Given the description of an element on the screen output the (x, y) to click on. 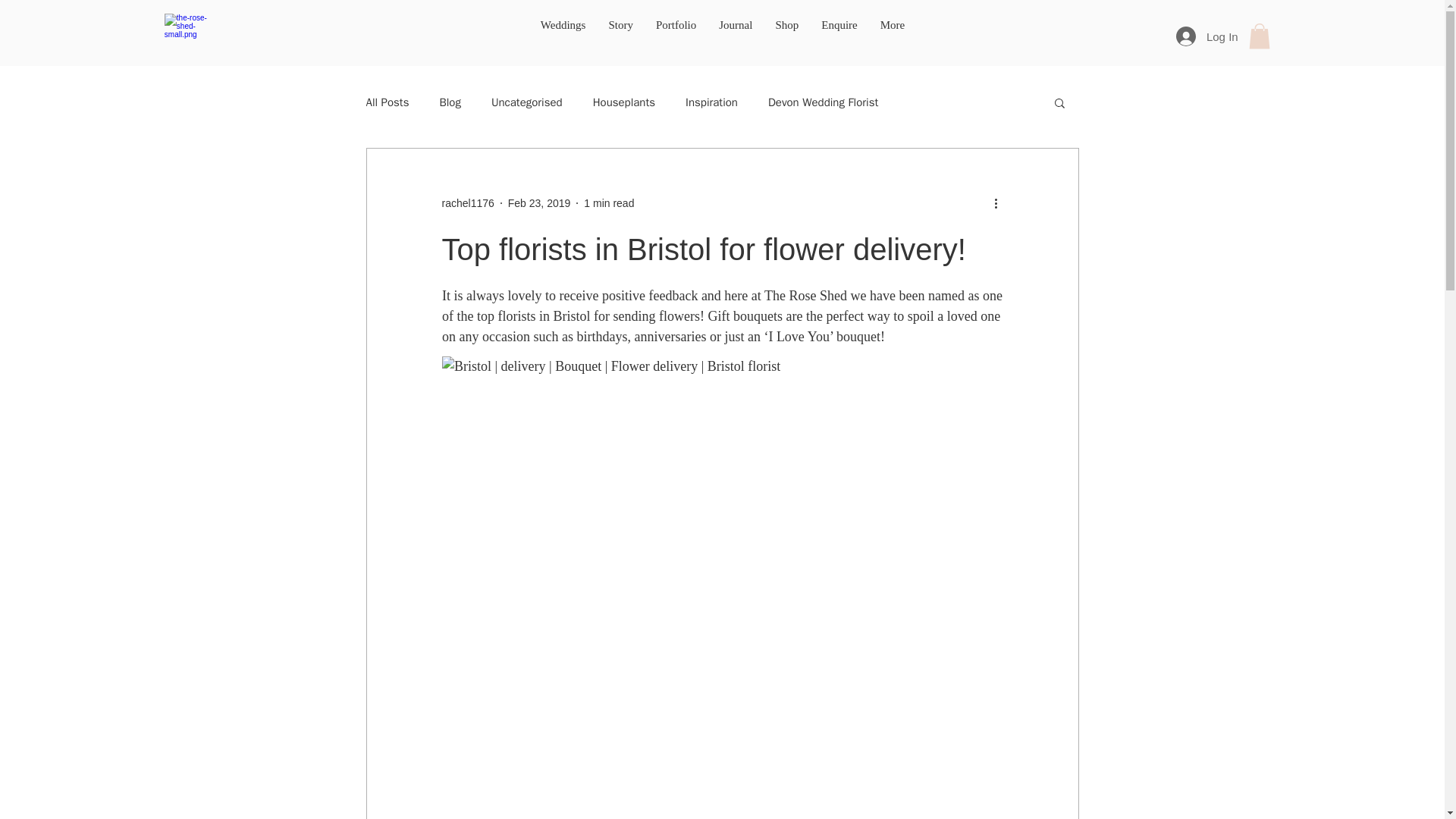
Log In (1207, 36)
Feb 23, 2019 (539, 203)
Blog (449, 102)
Portfolio (676, 36)
Devon Wedding Florist (822, 102)
Inspiration (711, 102)
Story (620, 36)
rachel1176 (467, 203)
rachel1176 (467, 203)
Uncategorised (527, 102)
